Given the description of an element on the screen output the (x, y) to click on. 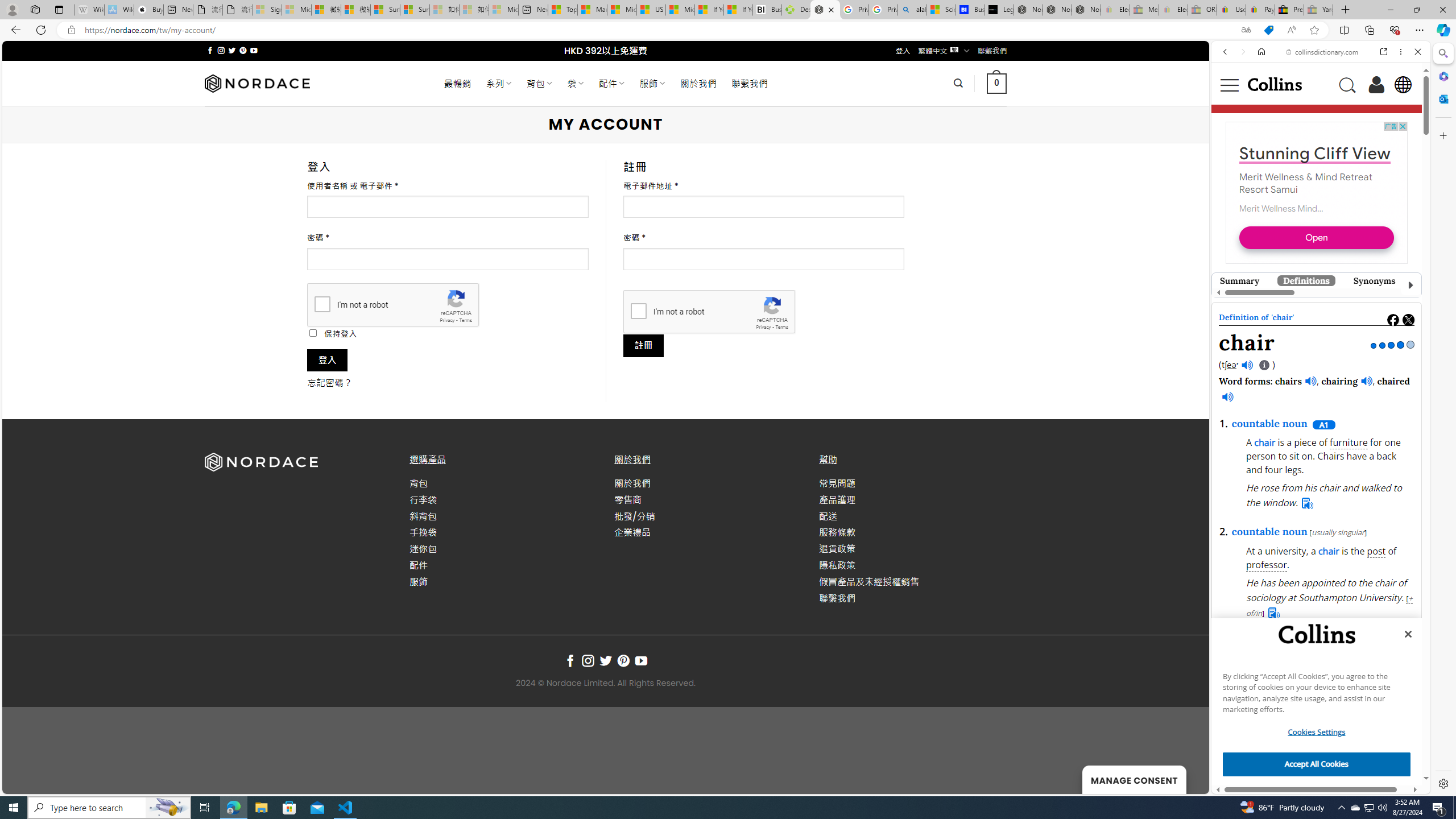
seat (1277, 285)
Summary (1239, 280)
Synonyms (1373, 280)
post (1376, 551)
Microsoft Services Agreement - Sleeping (295, 9)
Click to scroll right (1405, 711)
